Given the description of an element on the screen output the (x, y) to click on. 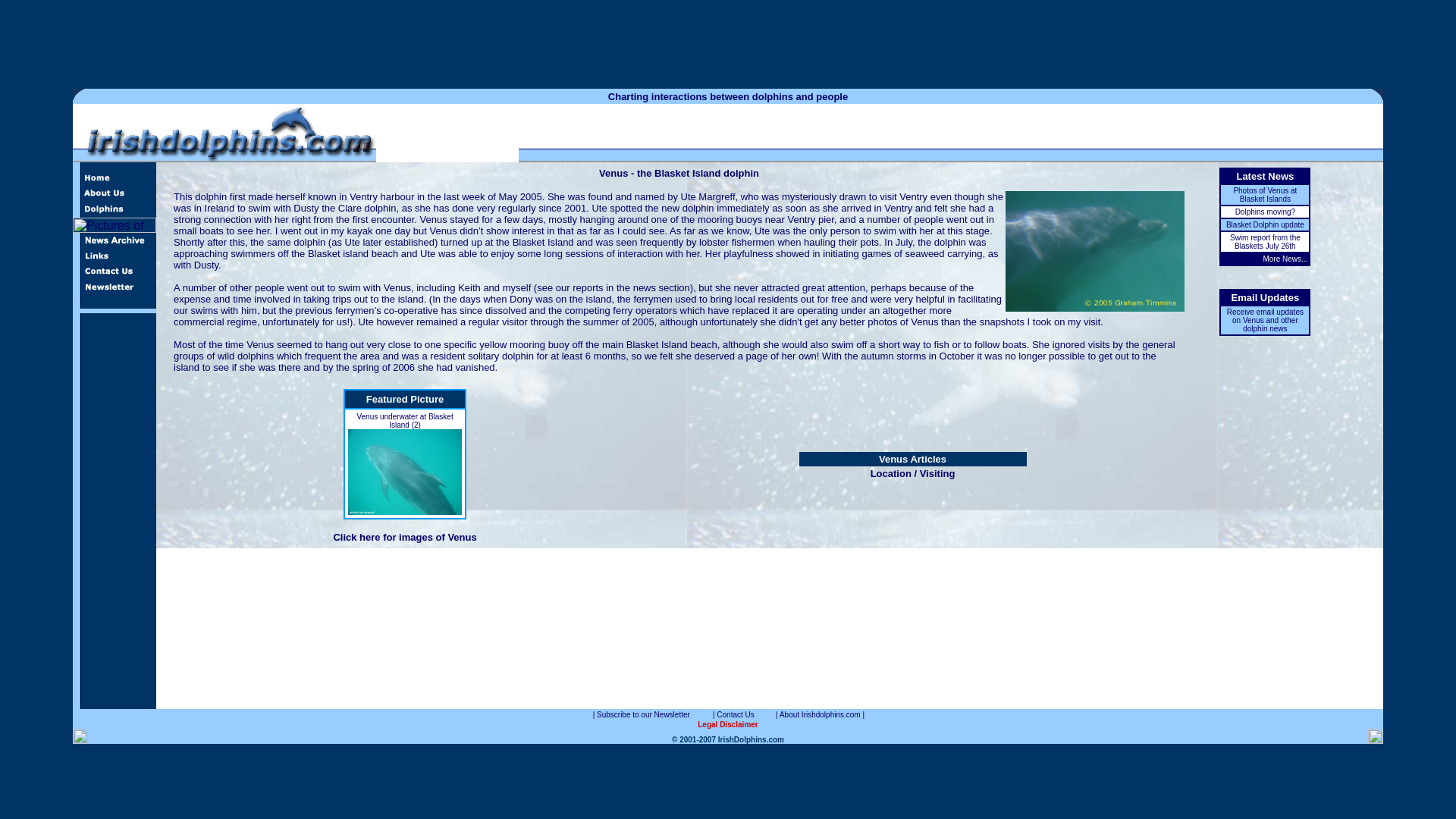
More News... (1284, 258)
Click here for images of Venus (404, 536)
Swim report from the Blaskets July 26th (1265, 241)
Photos of Venus at Blasket Islands (1265, 194)
Receive email updates on Venus and other dolphin news (1265, 319)
Legal Disclaimer (727, 722)
Dolphins moving? (1264, 212)
Blasket Dolphin update (1264, 224)
